Given the description of an element on the screen output the (x, y) to click on. 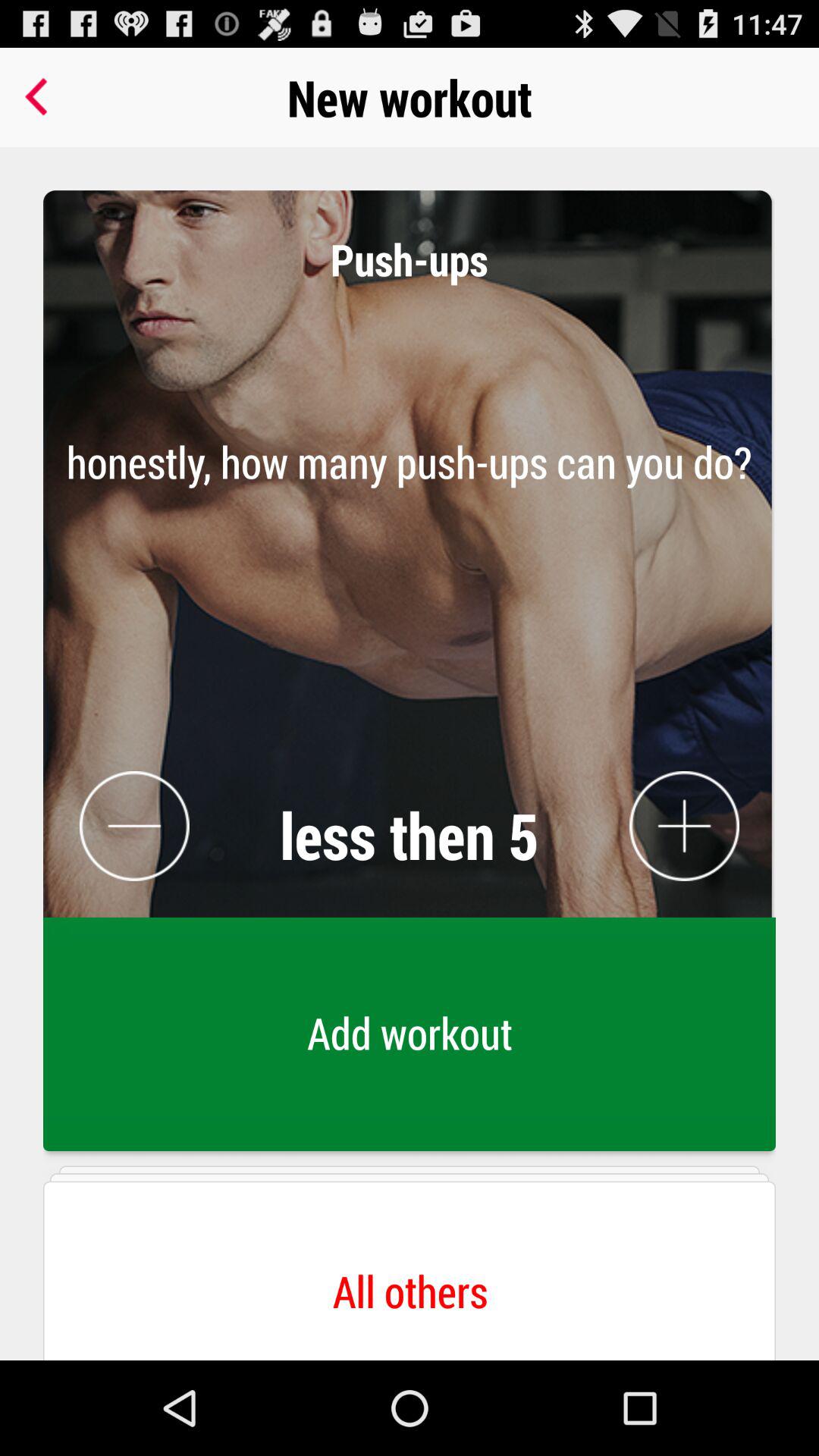
click the button below the add workout (409, 1259)
